Given the description of an element on the screen output the (x, y) to click on. 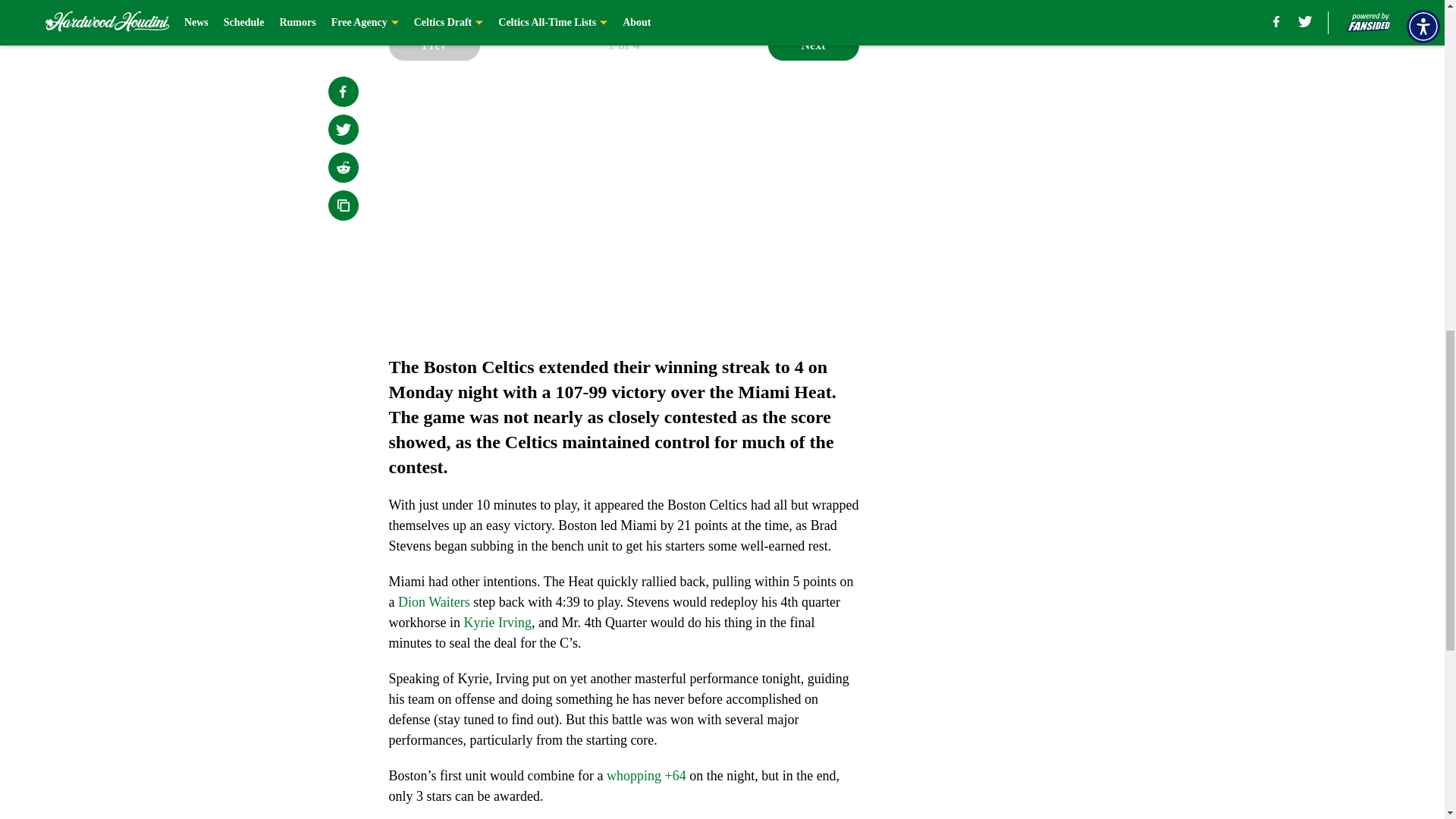
Next (813, 45)
Prev (433, 45)
Dion Waiters (433, 601)
Kyrie Irving (497, 622)
